Given the description of an element on the screen output the (x, y) to click on. 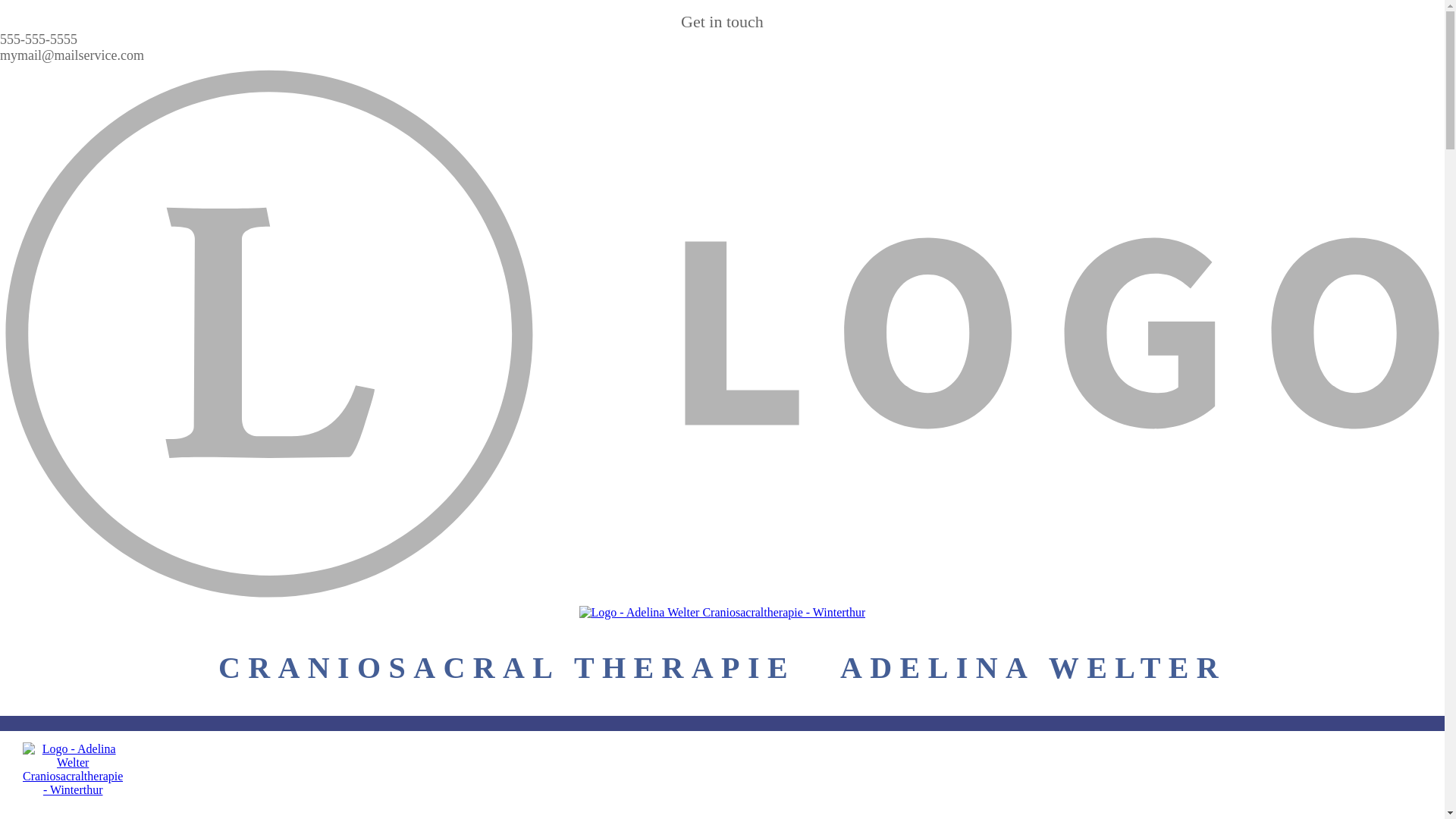
CRANIOSACRAL THERAPIE   ADELINA WELTER Element type: text (722, 667)
